Given the description of an element on the screen output the (x, y) to click on. 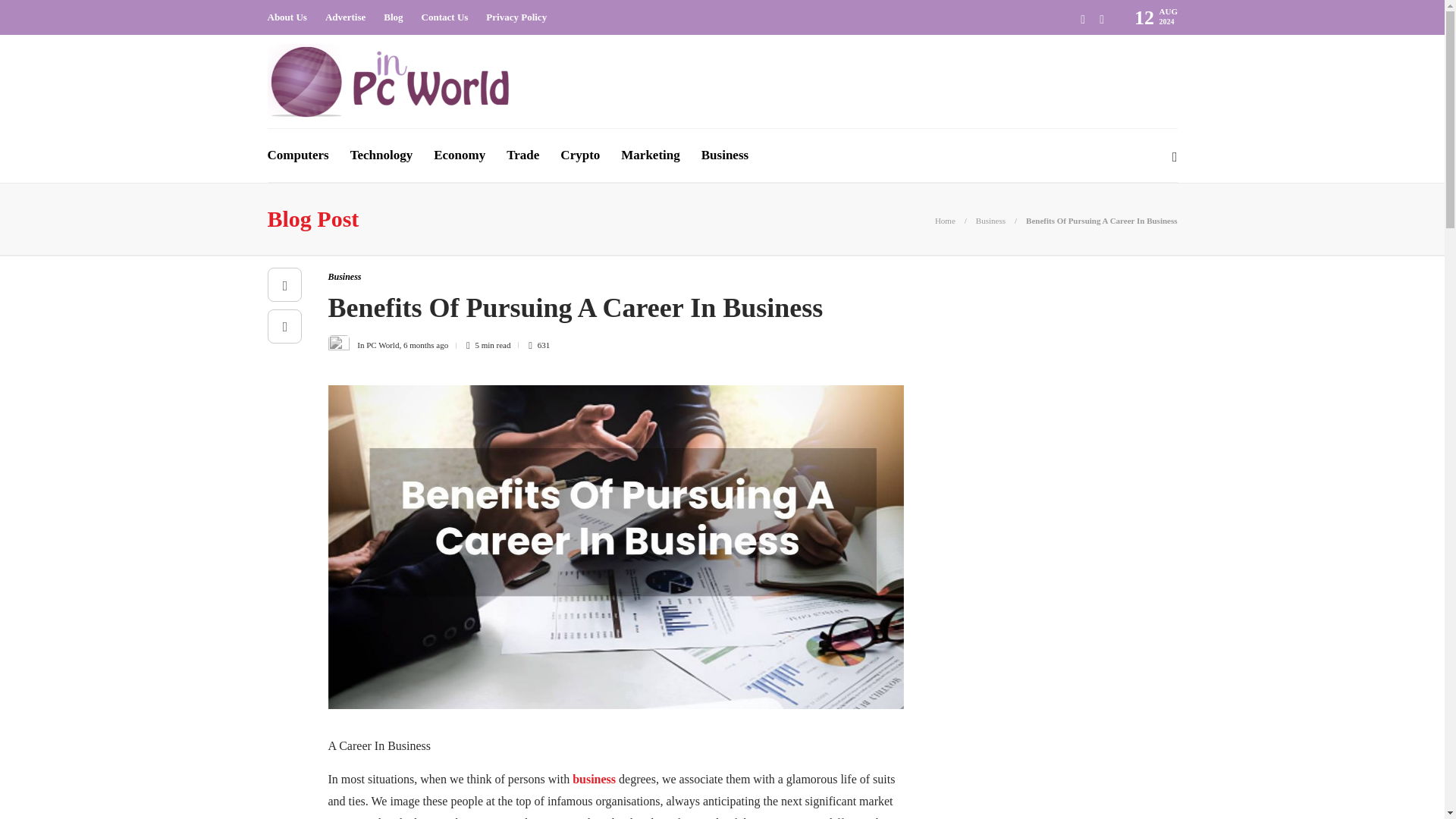
Contact Us (445, 17)
Computers (297, 154)
Home (944, 220)
Business (344, 276)
Economy (458, 154)
Business (990, 220)
Home (944, 220)
About Us (285, 17)
Benefits Of Pursuing A Career In Business (1101, 220)
Privacy Policy (516, 17)
